Given the description of an element on the screen output the (x, y) to click on. 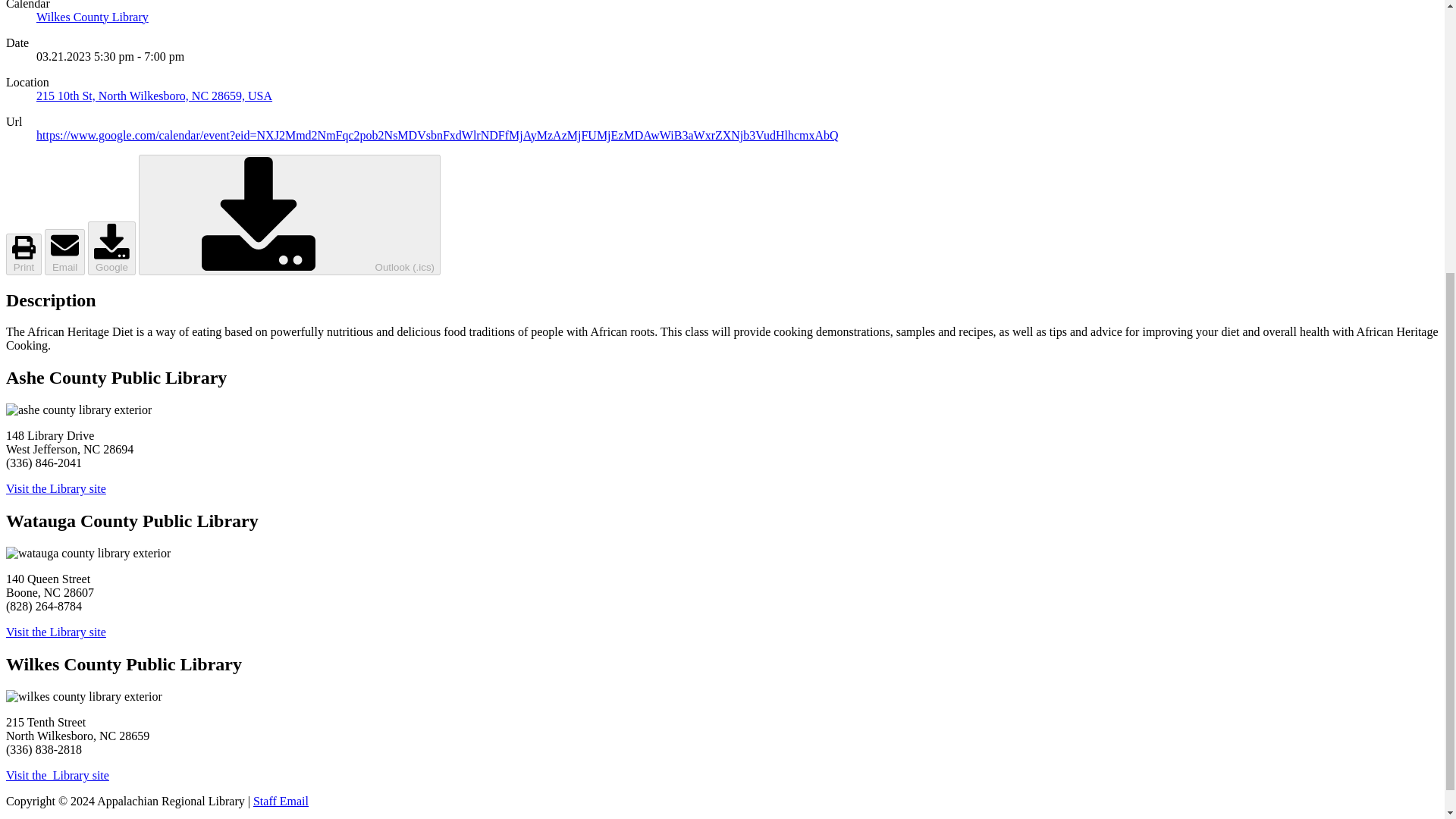
Wilkes County Library (92, 16)
Visit the Library site (55, 488)
Visit the Library site (55, 631)
215 10th St, North Wilkesboro, NC 28659, USA (154, 95)
Visit the  Library site (57, 775)
Staff Email (280, 800)
